Given the description of an element on the screen output the (x, y) to click on. 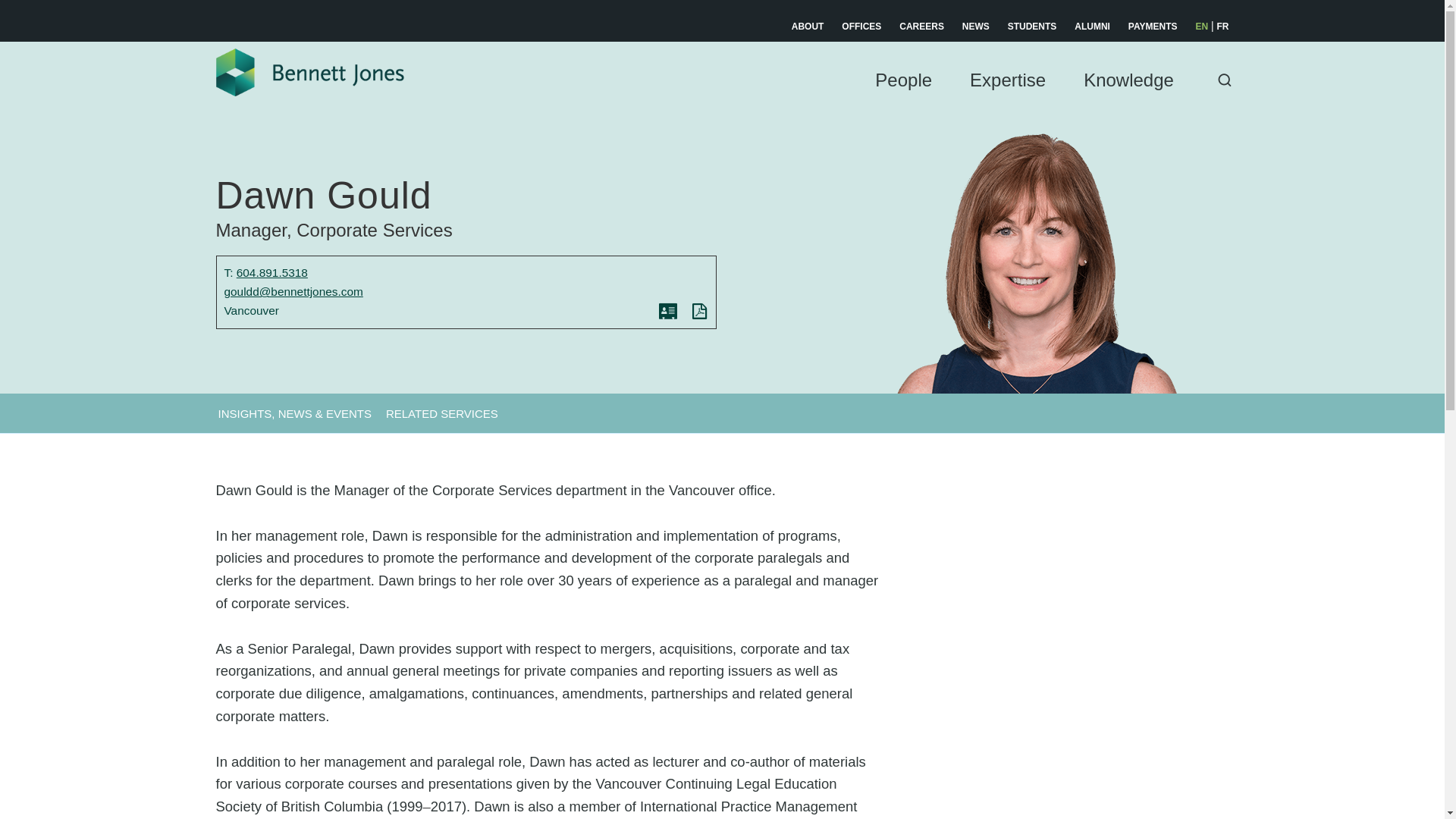
FR (1221, 26)
People (903, 97)
OFFICES (860, 26)
ABOUT (808, 26)
CAREERS (921, 26)
vCard (668, 311)
Knowledge (1128, 97)
STUDENTS (1032, 26)
Expertise (1007, 97)
ALUMNI (1091, 26)
Dawn  Gould Pdf Download (700, 311)
NEWS (976, 26)
PAYMENTS (1152, 26)
EN (1201, 26)
